Given the description of an element on the screen output the (x, y) to click on. 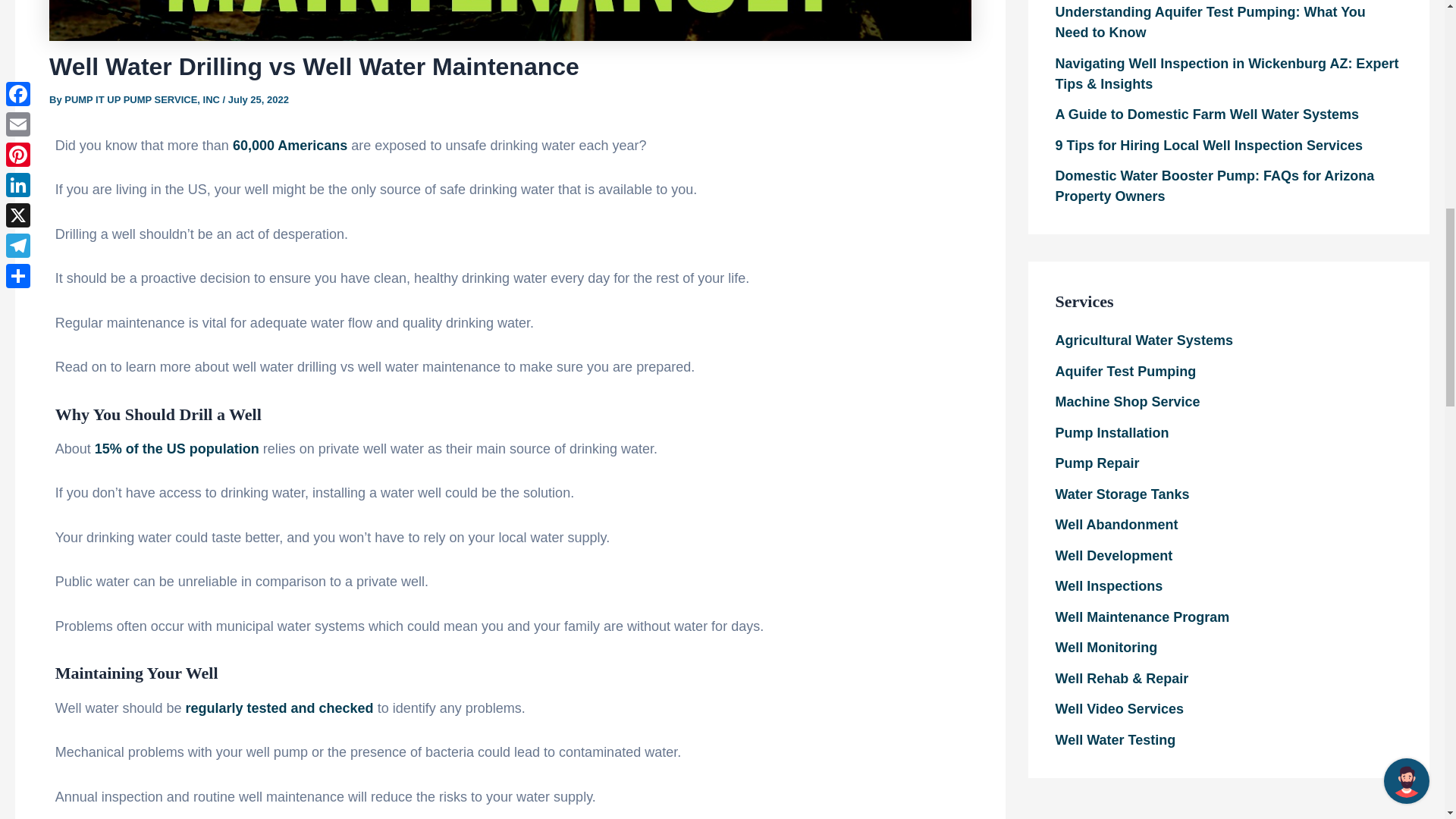
View all posts by PUMP IT UP PUMP SERVICE, INC (143, 99)
